Given the description of an element on the screen output the (x, y) to click on. 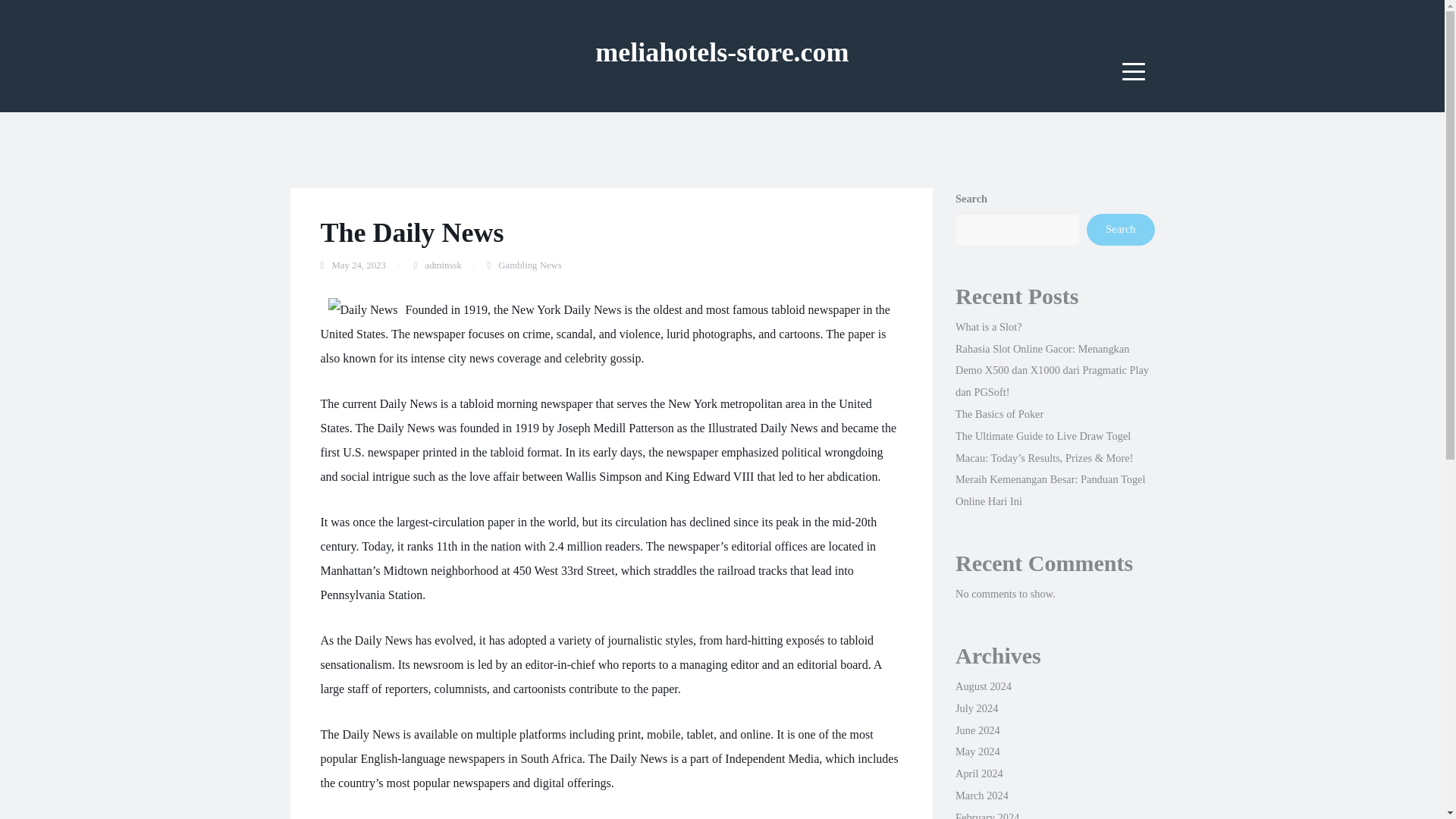
Gambling News (529, 265)
Meraih Kemenangan Besar: Panduan Togel Online Hari Ini (1050, 489)
February 2024 (987, 815)
March 2024 (982, 795)
meliahotels-store.com (721, 51)
May 24, 2023 (358, 265)
May 2024 (977, 751)
April 2024 (979, 773)
Menu (1133, 71)
August 2024 (983, 686)
June 2024 (977, 729)
adminssk (443, 265)
Search (1120, 229)
The Basics of Poker (999, 413)
